Given the description of an element on the screen output the (x, y) to click on. 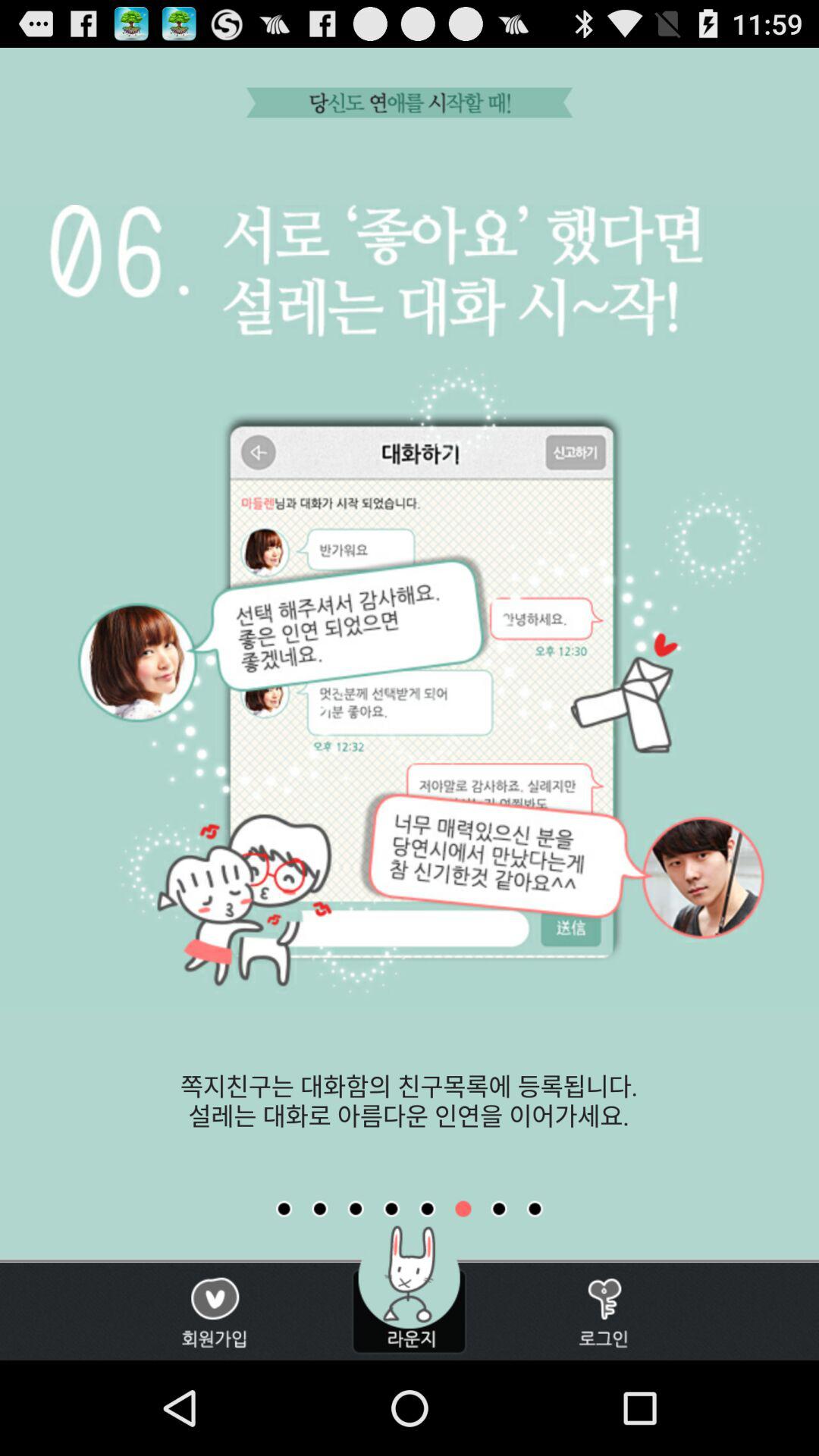
pass image (499, 1208)
